Given the description of an element on the screen output the (x, y) to click on. 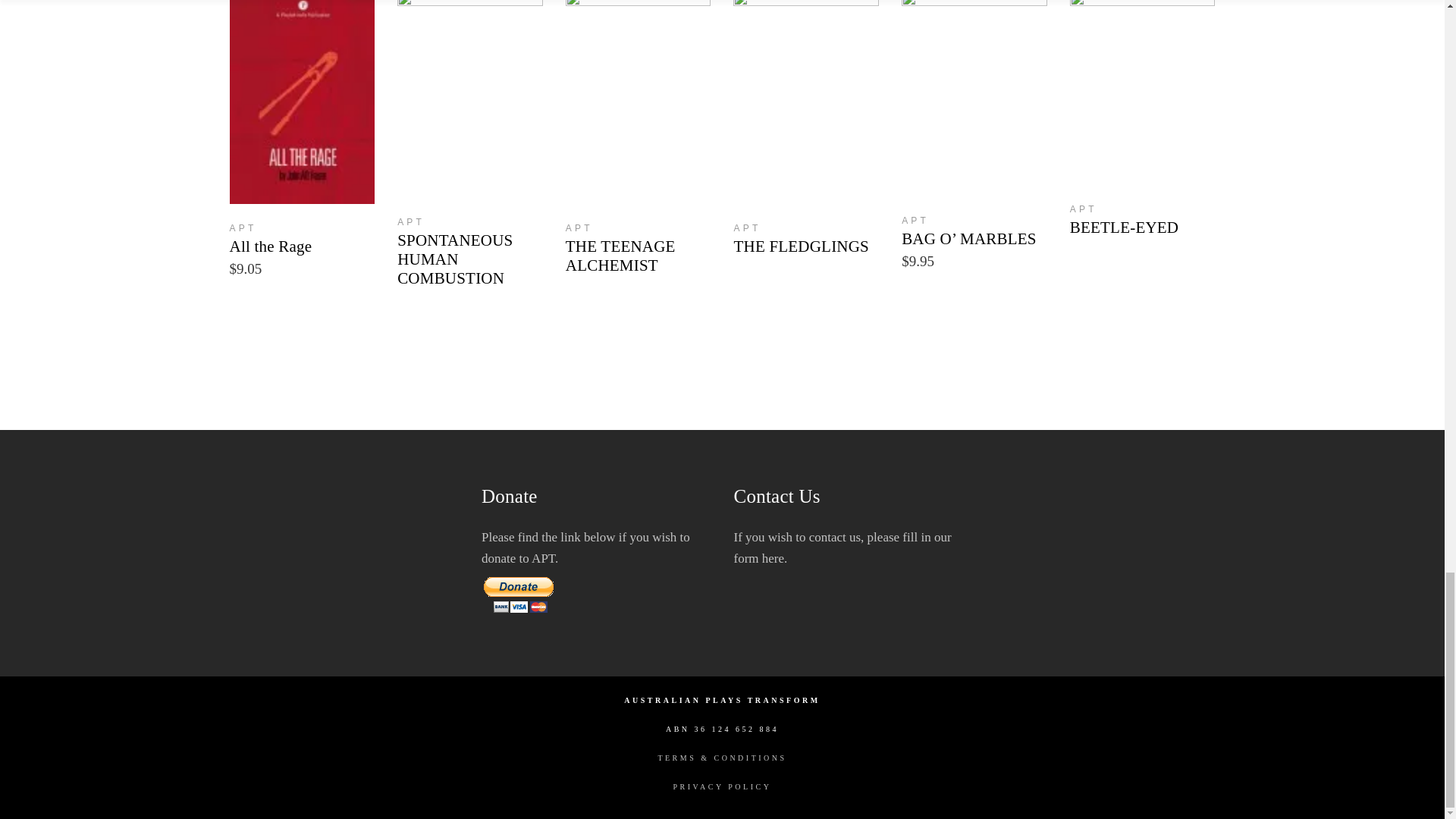
PayPal - The safer, easier way to pay online! (518, 594)
